Given the description of an element on the screen output the (x, y) to click on. 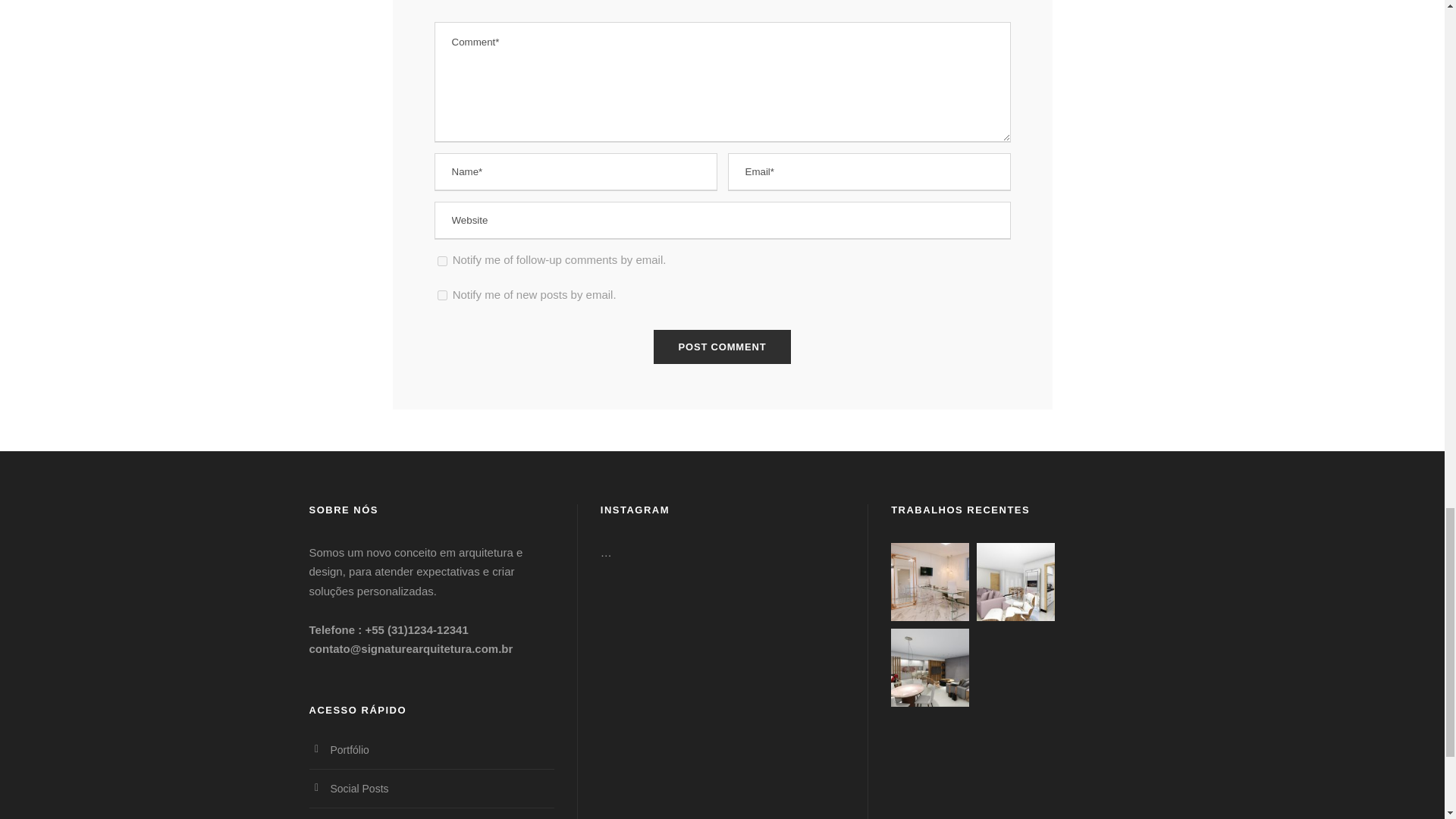
Social Posts (359, 788)
Post Comment (722, 346)
subscribe (441, 261)
Post Comment (722, 346)
subscribe (441, 295)
